Given the description of an element on the screen output the (x, y) to click on. 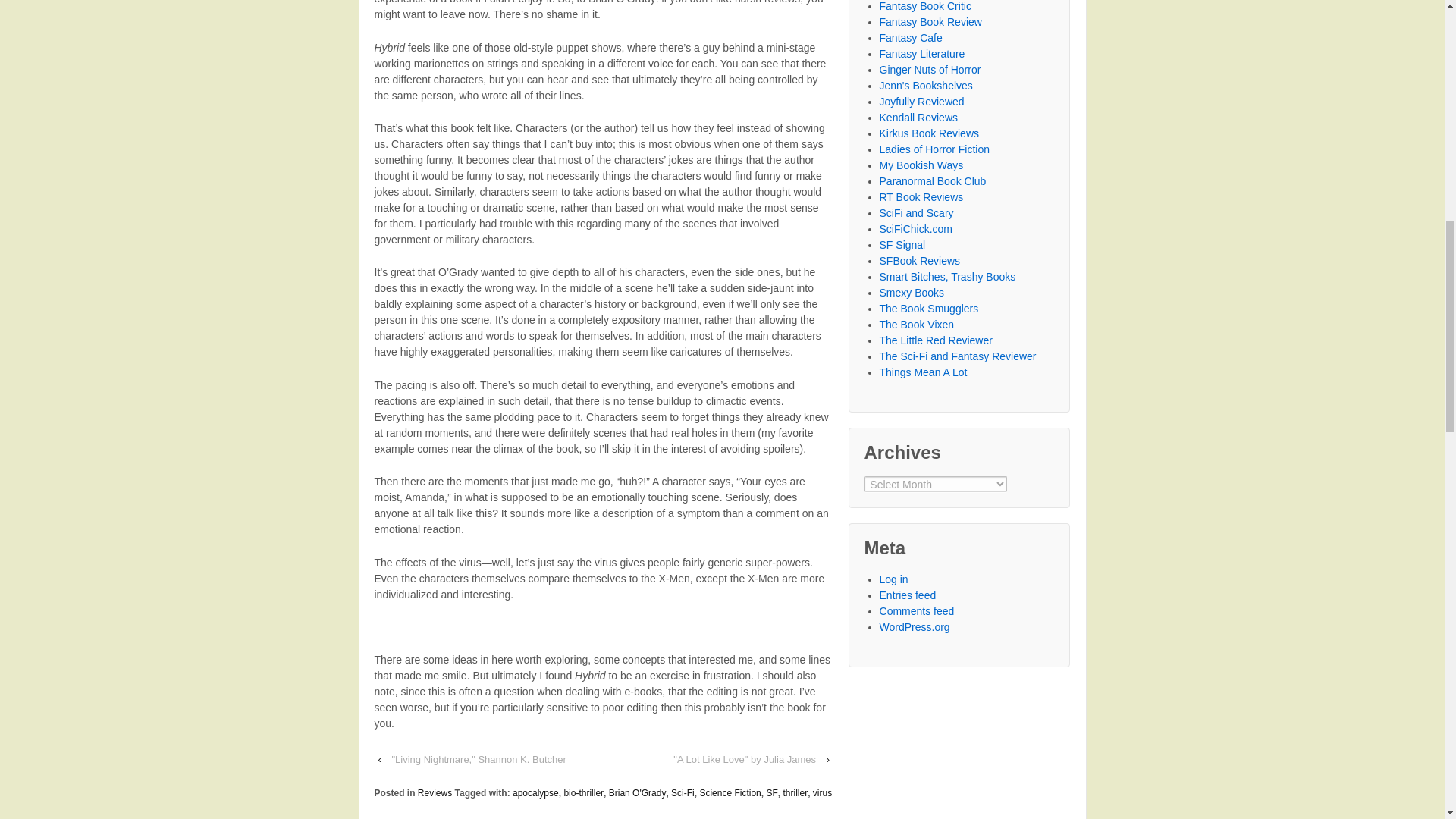
Science Fiction (729, 792)
bio-thriller (583, 792)
virus (821, 792)
"Living Nightmare," Shannon K. Butcher (478, 759)
SF (771, 792)
Brian O'Grady (637, 792)
"A Lot Like Love" by Julia James (744, 759)
apocalypse (535, 792)
Reviews (434, 792)
thriller (795, 792)
Sci-Fi (682, 792)
